Given the description of an element on the screen output the (x, y) to click on. 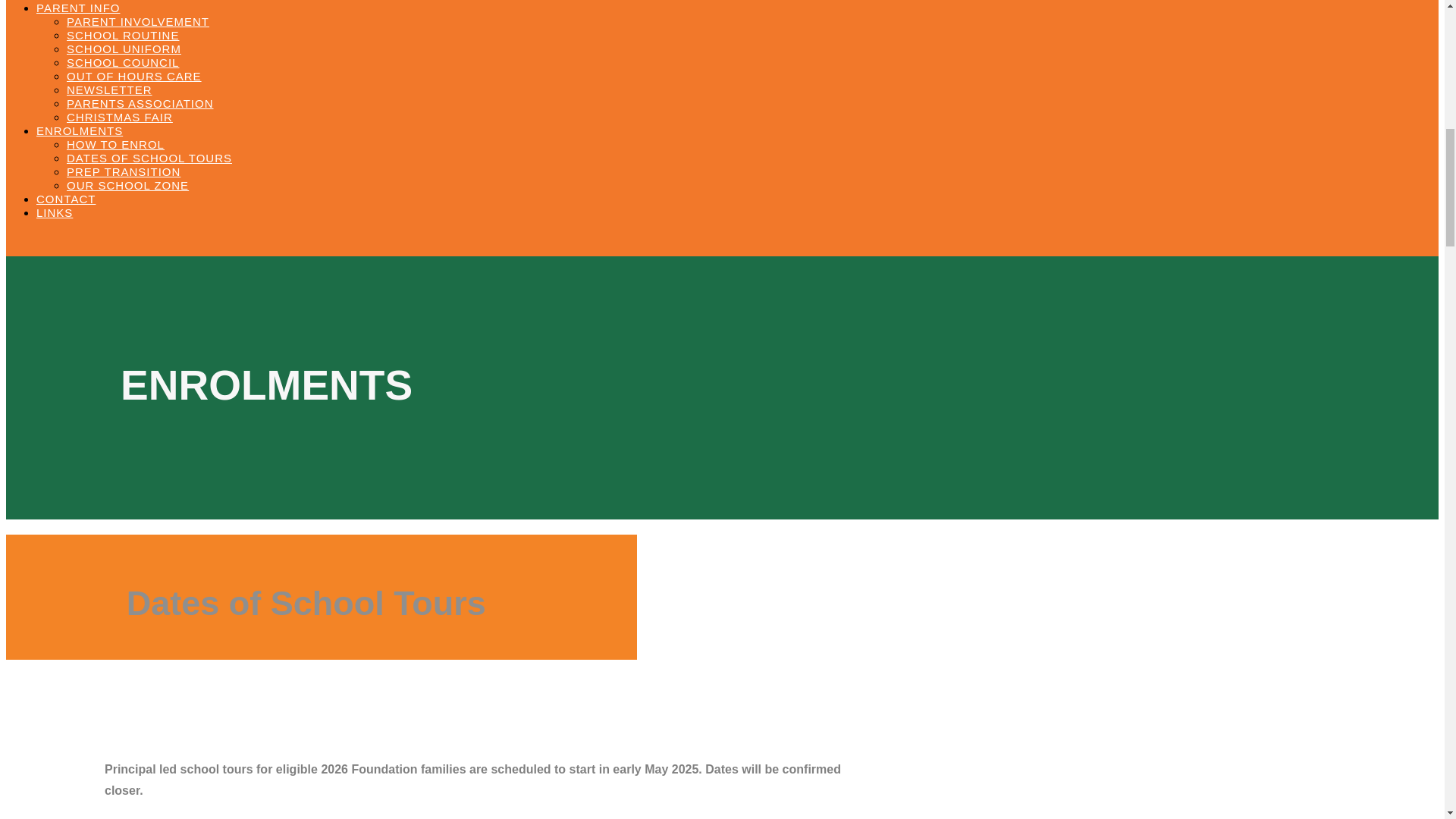
OUT OF HOURS CARE (134, 75)
CHRISTMAS FAIR (119, 116)
PARENT INVOLVEMENT (137, 21)
SCHOOL UNIFORM (123, 48)
NEWSLETTER (109, 89)
ENROLMENTS (79, 130)
SCHOOL COUNCIL (122, 62)
SCHOOL ROUTINE (122, 34)
PARENT INFO (77, 7)
PARENTS ASSOCIATION (139, 103)
CAMPS (88, 0)
